Given the description of an element on the screen output the (x, y) to click on. 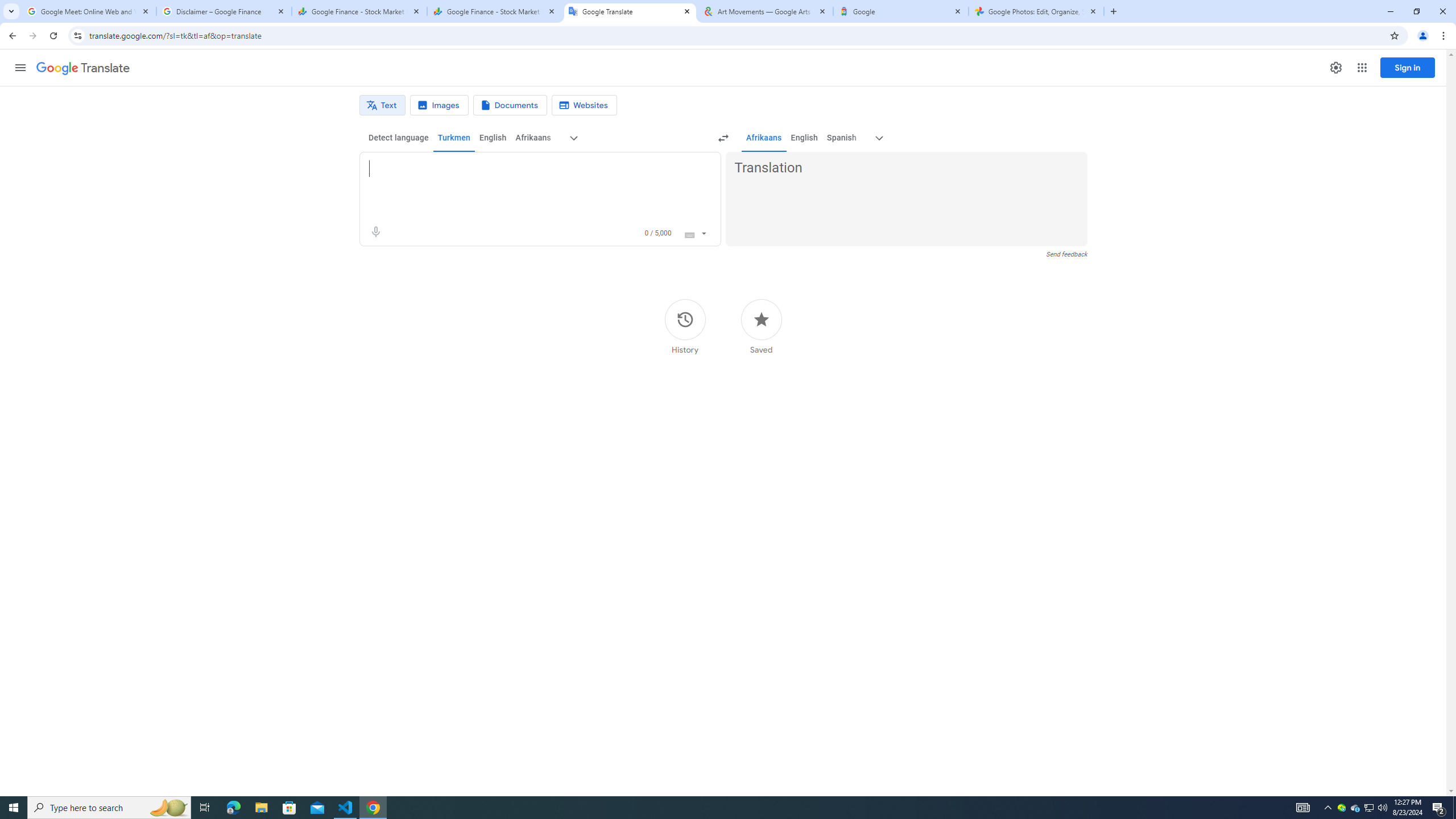
Translate by voice (375, 231)
Show the Input Tools menu (703, 231)
Saved (761, 326)
Website translation (584, 105)
Sign in (1407, 67)
Text translation (382, 105)
Google Translate (630, 11)
Settings (1335, 67)
Spanish (840, 137)
